Given the description of an element on the screen output the (x, y) to click on. 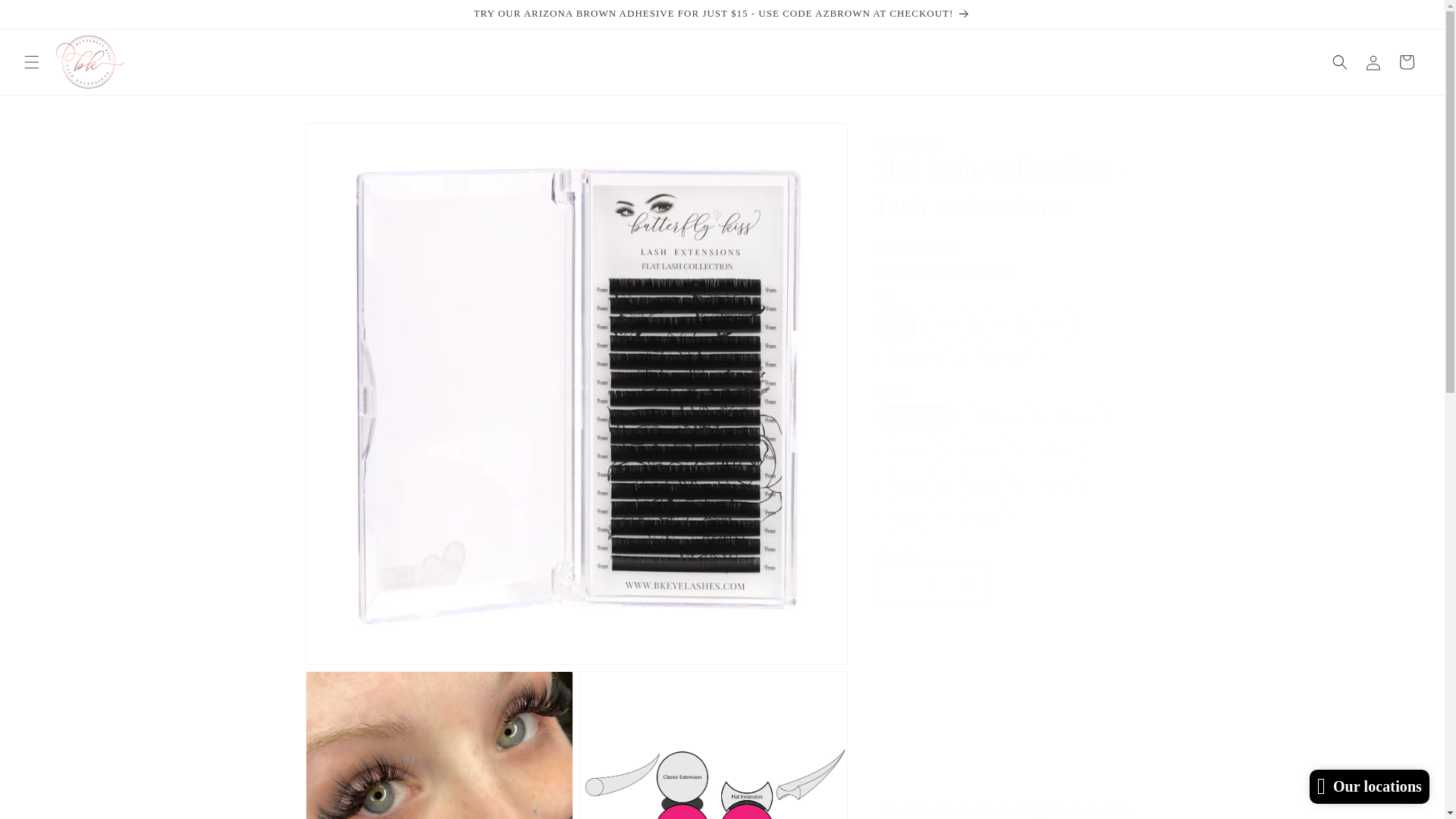
Open media 3 in modal (713, 744)
1 (931, 583)
Cart (1406, 61)
Log in (1373, 61)
